Given the description of an element on the screen output the (x, y) to click on. 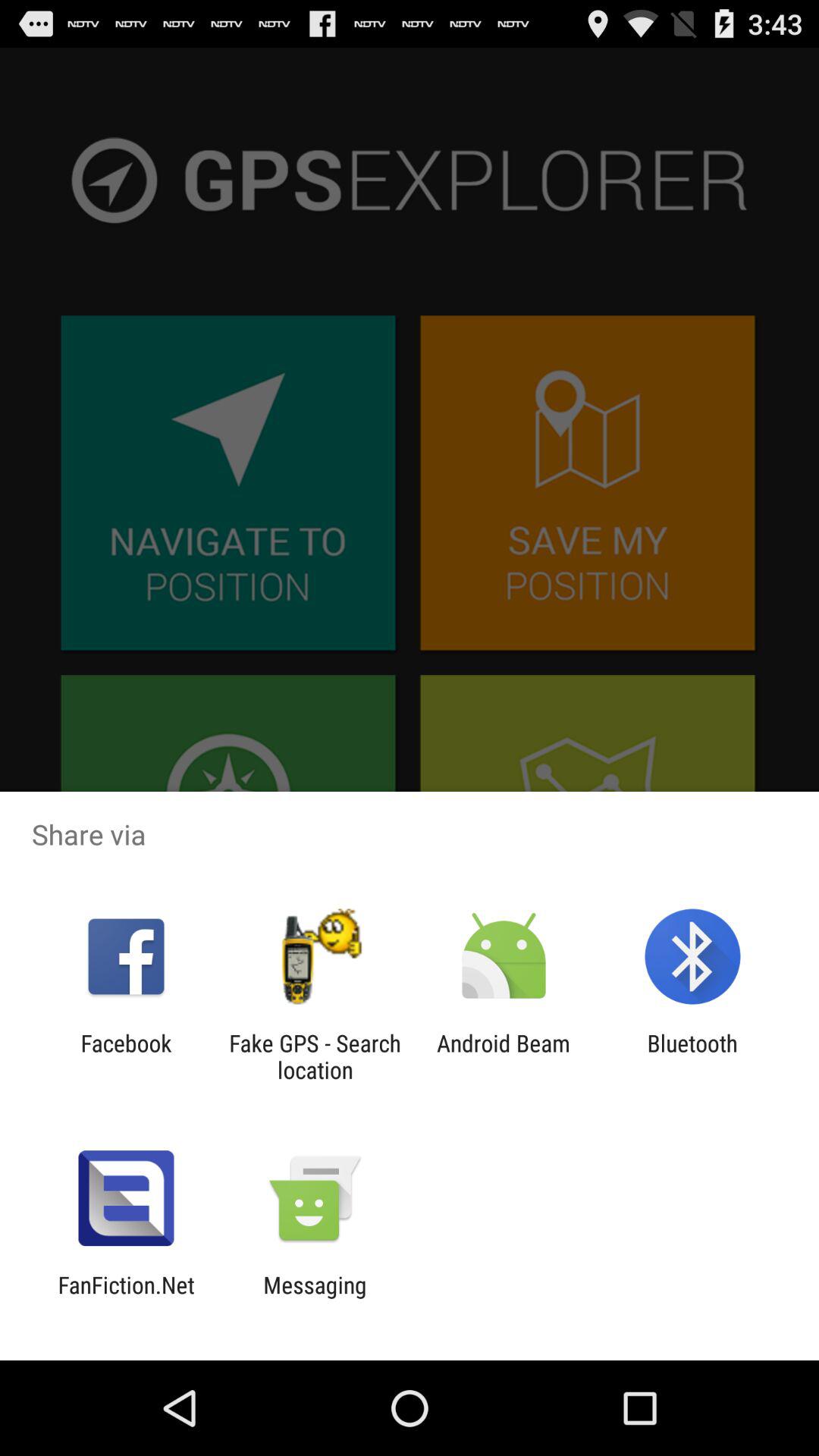
press item next to fake gps search app (503, 1056)
